Given the description of an element on the screen output the (x, y) to click on. 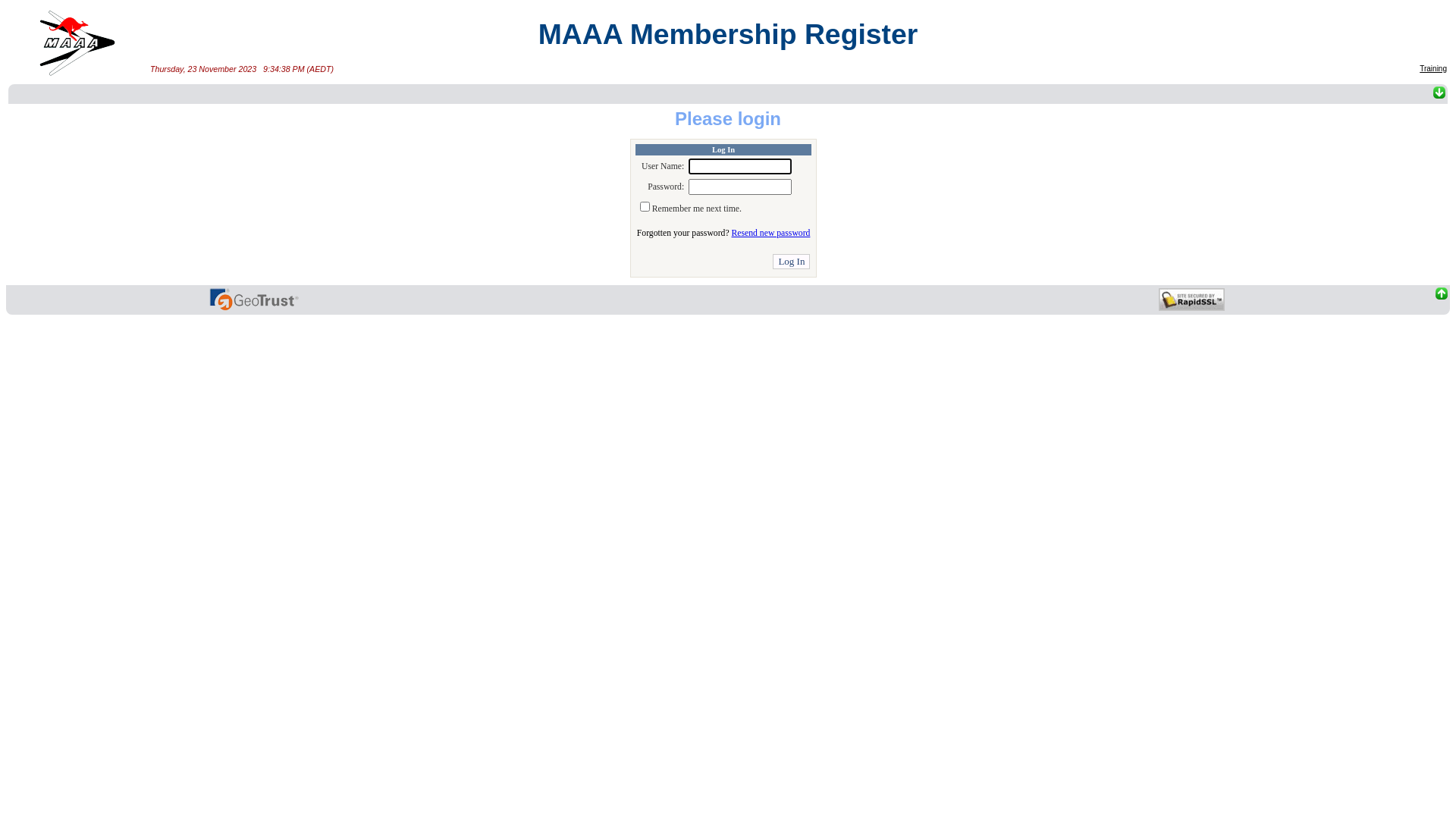
To top of page Element type: hover (91, 293)
To top of page Element type: hover (91, 308)
To top of page Element type: hover (253, 299)
    Element type: text (1190, 299)
Home page Element type: hover (77, 44)
To top of page Element type: hover (1441, 293)
To top of page Element type: hover (1345, 308)
  Element type: text (1441, 308)
To top of page Element type: hover (1441, 308)
To bottom of page Element type: hover (103, 93)
To top of page Element type: hover (1345, 293)
  Element type: text (1345, 308)
Log In Element type: text (790, 261)
Resend new password Element type: text (770, 233)
To bottom of page Element type: hover (885, 93)
Site secured by RapidSSL Element type: hover (1191, 299)
Site security certificate supplied by GeoTrust Element type: hover (254, 299)
Training Element type: text (1432, 68)
Home Element type: hover (76, 43)
To top of page Element type: hover (1190, 299)
    Element type: text (253, 299)
